Given the description of an element on the screen output the (x, y) to click on. 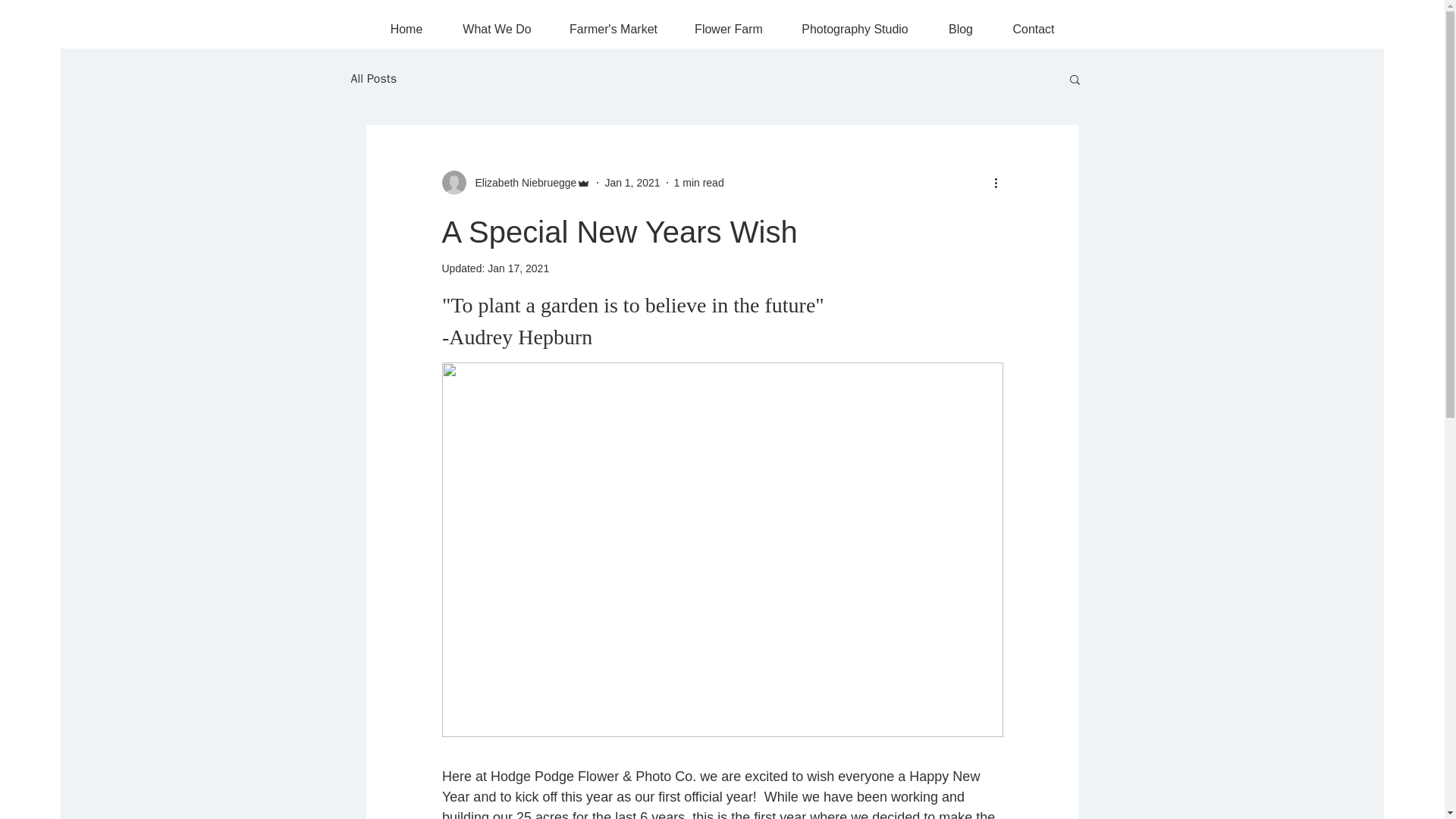
Blog (960, 22)
Flower Farm (729, 22)
What We Do (496, 22)
All Posts (373, 78)
Elizabeth Niebruegge (516, 182)
Photography Studio (854, 22)
Home (406, 22)
1 min read (698, 182)
Farmer's Market (612, 22)
Jan 1, 2021 (631, 182)
